Given the description of an element on the screen output the (x, y) to click on. 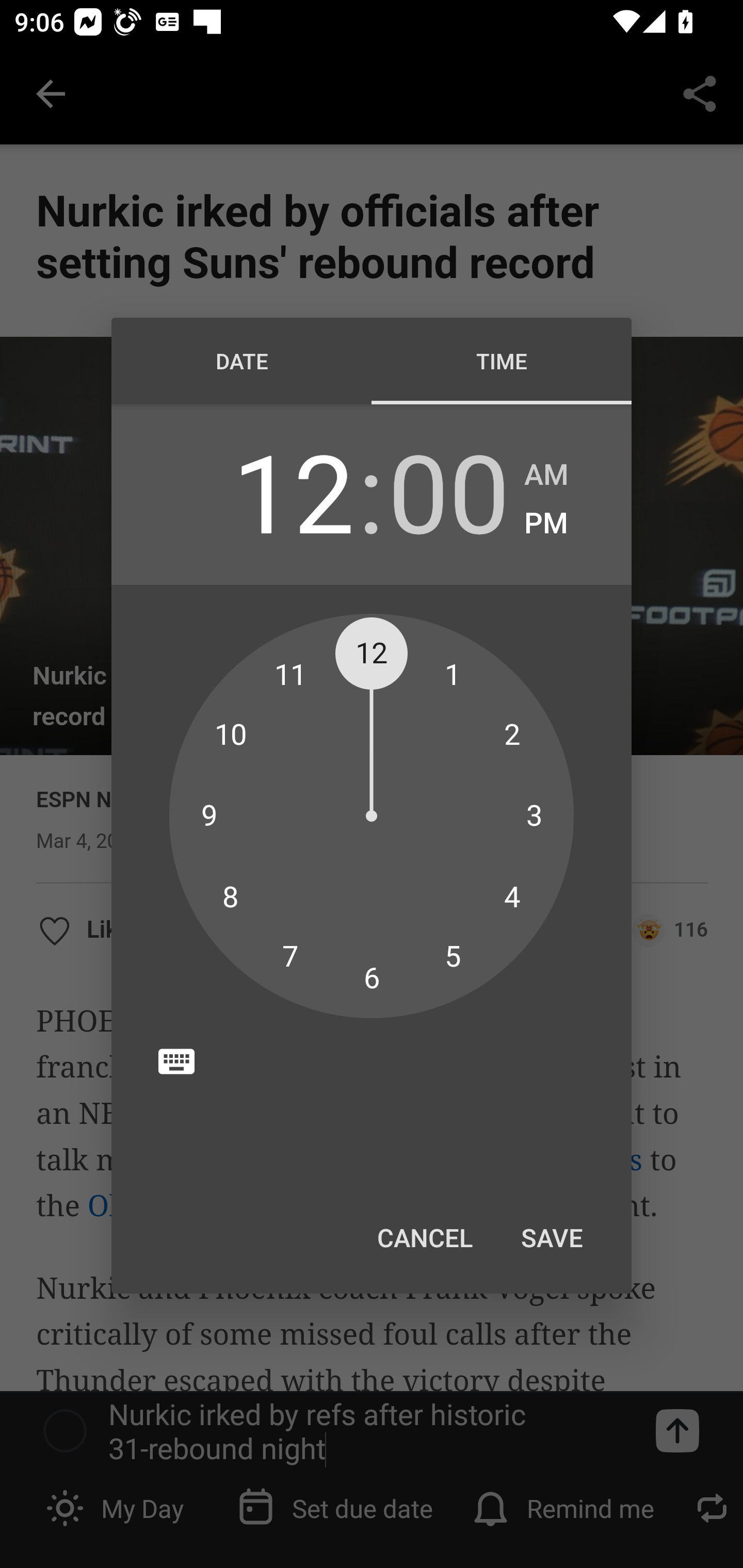
Date DATE (241, 361)
Time TIME (501, 361)
12 (293, 490)
00 (448, 490)
AM (546, 474)
PM (546, 523)
Switch to text input mode for the time input. (175, 1061)
CANCEL (424, 1236)
SAVE (552, 1236)
